Given the description of an element on the screen output the (x, y) to click on. 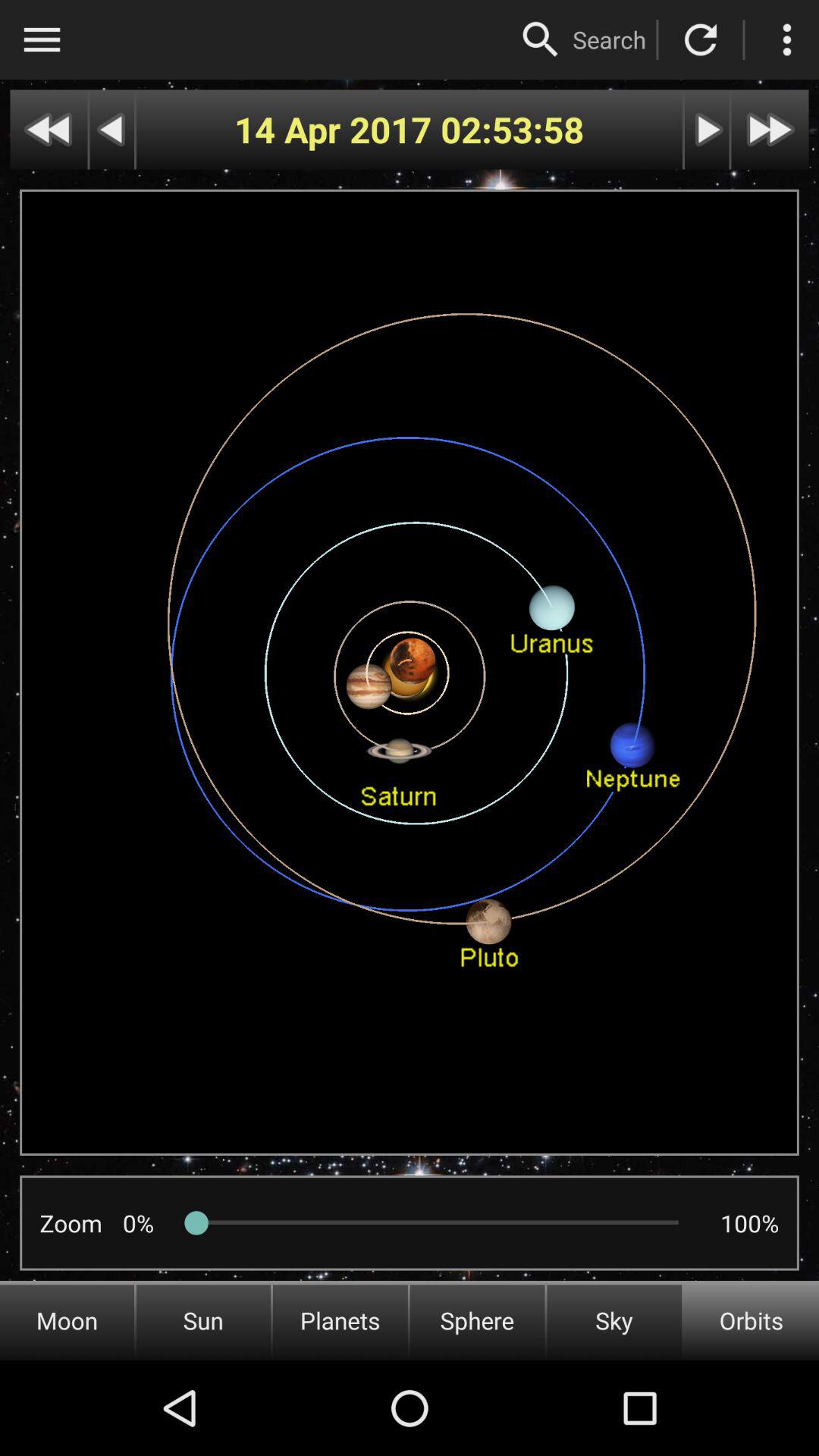
click item next to the 14 apr 2017  item (512, 129)
